Given the description of an element on the screen output the (x, y) to click on. 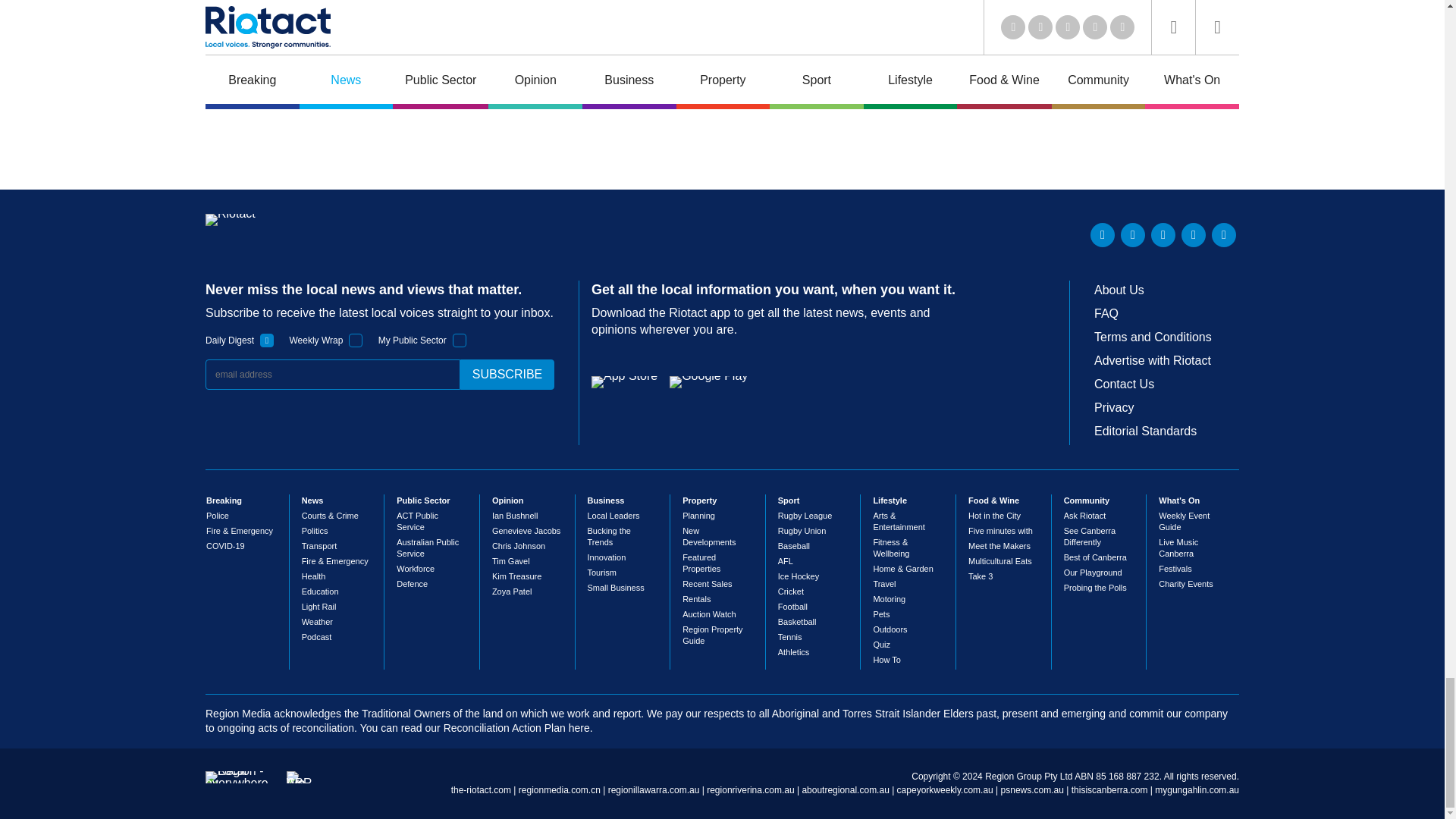
subscribe (507, 374)
1 (458, 340)
1 (266, 340)
1 (355, 340)
